Given the description of an element on the screen output the (x, y) to click on. 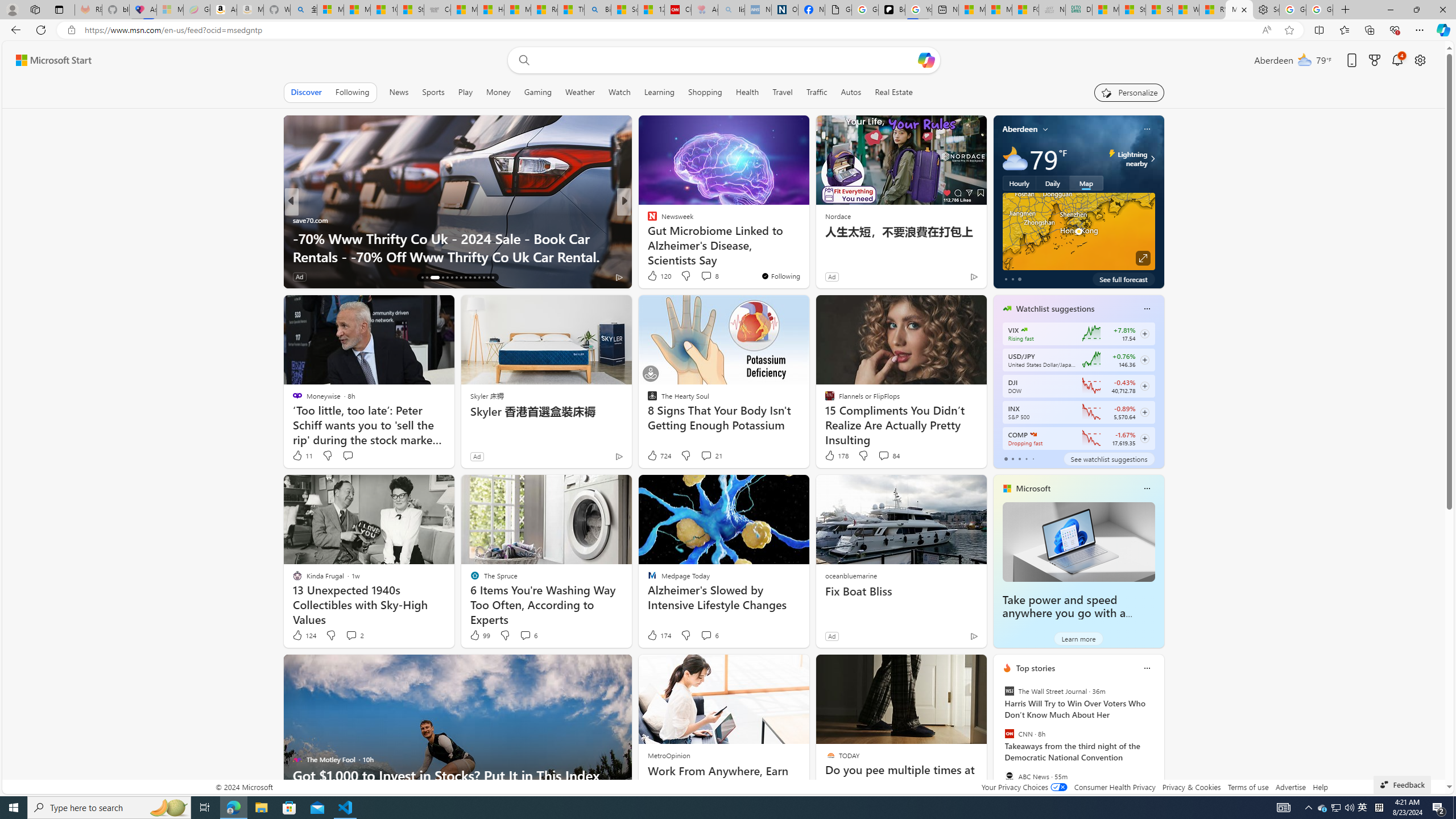
R******* | Trusted Community Engagement and Contributions (1211, 9)
Asthma Inhalers: Names and Types (143, 9)
823 Like (654, 276)
View comments 2 Comment (354, 634)
View comments 48 Comment (707, 276)
next (1158, 741)
124 Like (303, 634)
